Given the description of an element on the screen output the (x, y) to click on. 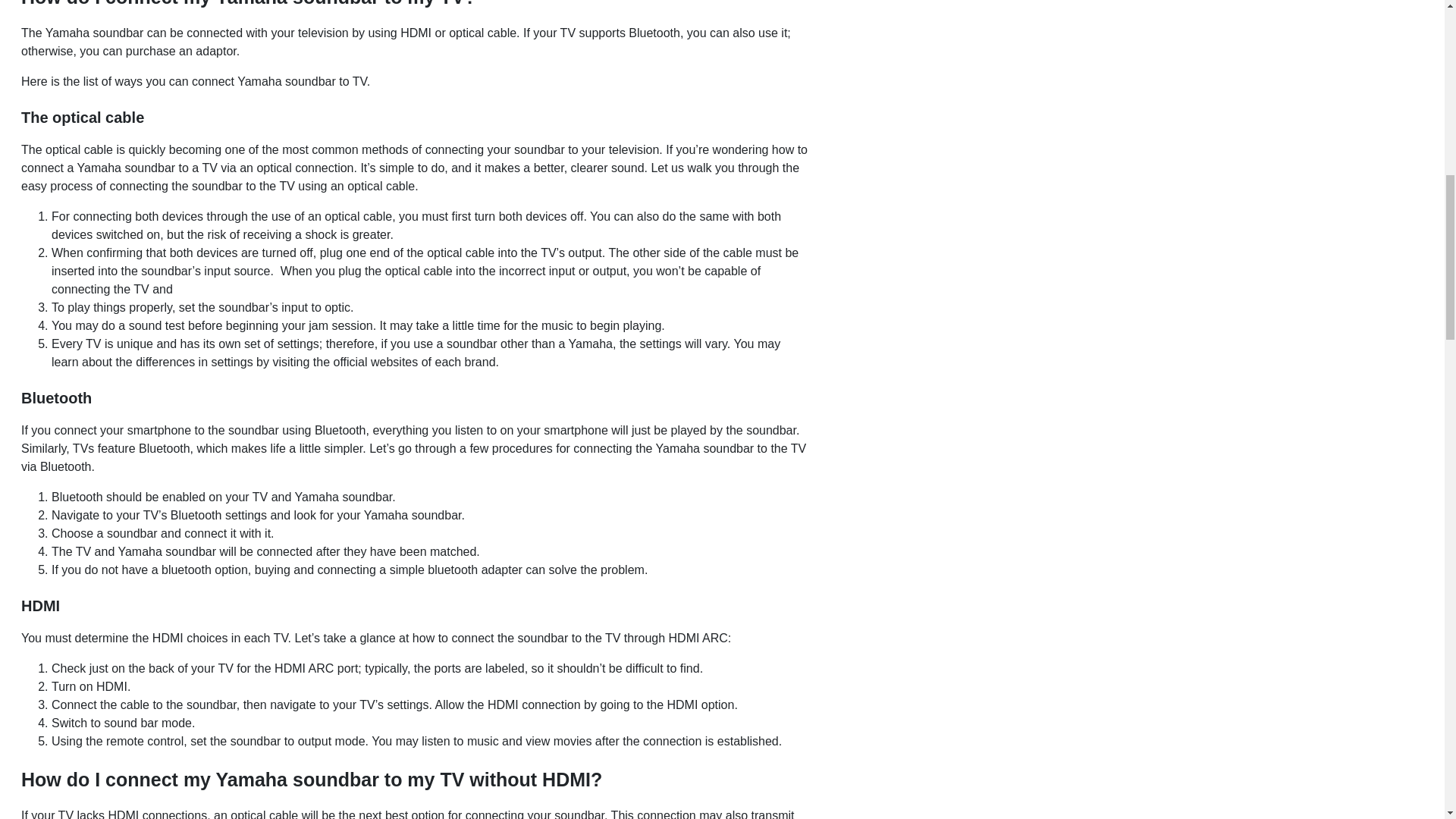
Scroll back to top (1406, 720)
